Given the description of an element on the screen output the (x, y) to click on. 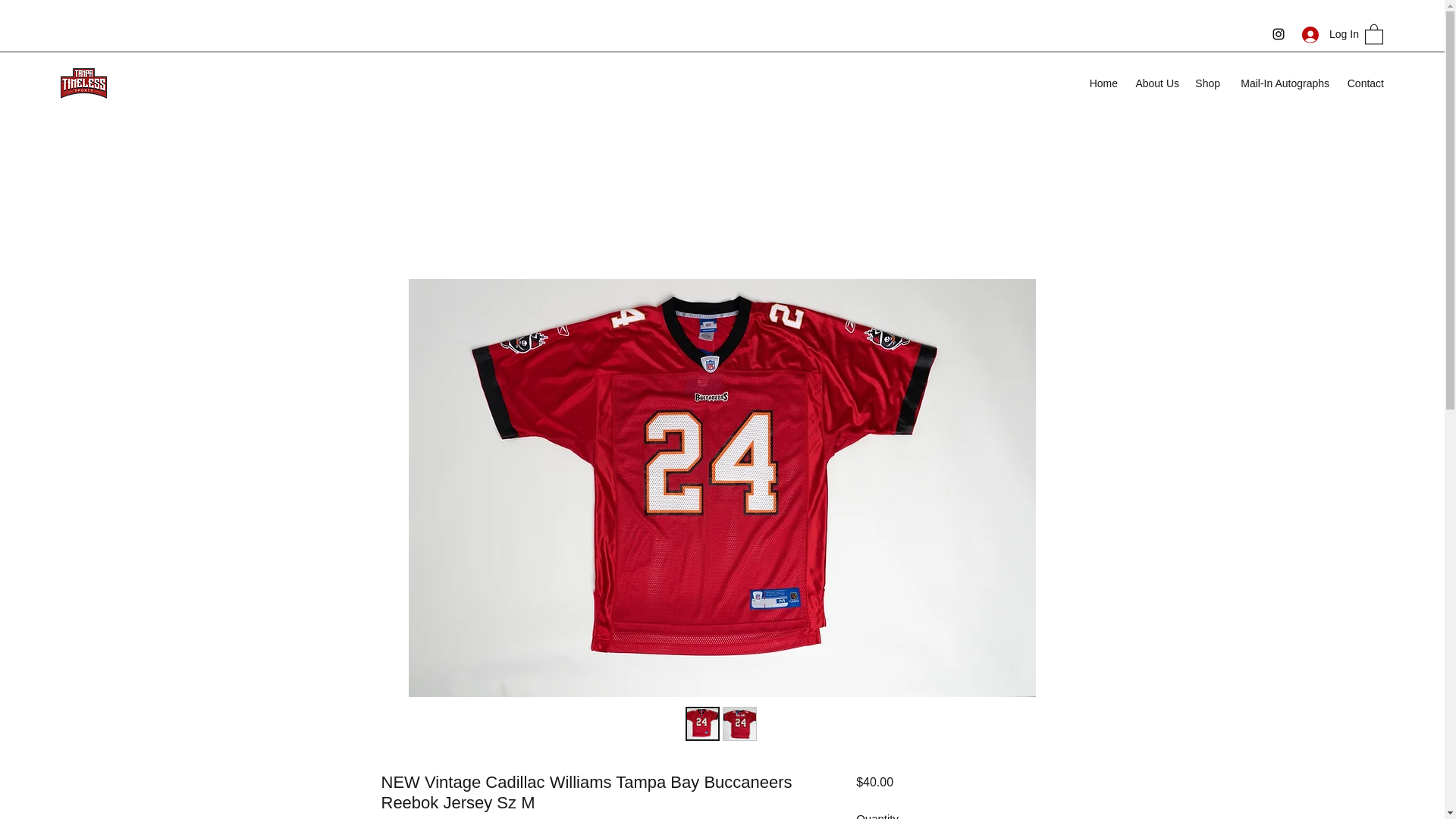
About Us (1155, 83)
Mail-In Autographs (1281, 83)
Shop (1206, 83)
Home (1102, 83)
Contact (1363, 83)
Log In (1325, 34)
